Given the description of an element on the screen output the (x, y) to click on. 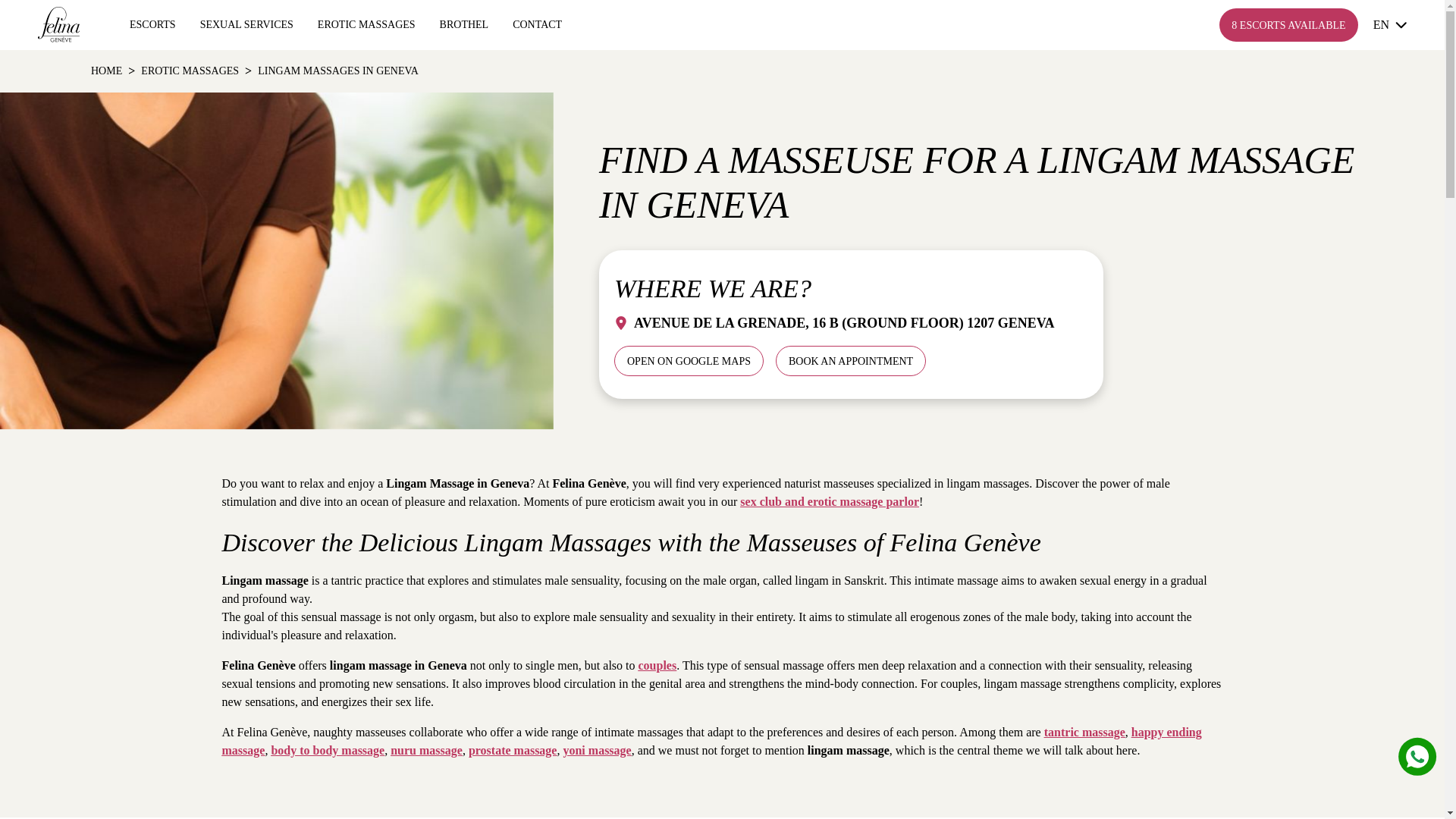
EROTIC MASSAGES (189, 70)
ESCORTS (152, 24)
couples (658, 665)
BOOK AN APPOINTMENT (851, 360)
body to body massage (327, 749)
BROTHEL (464, 24)
s (1417, 756)
OPEN ON GOOGLE MAPS (688, 360)
happy ending massage (711, 740)
8 ESCORTS AVAILABLE (1288, 24)
